Given the description of an element on the screen output the (x, y) to click on. 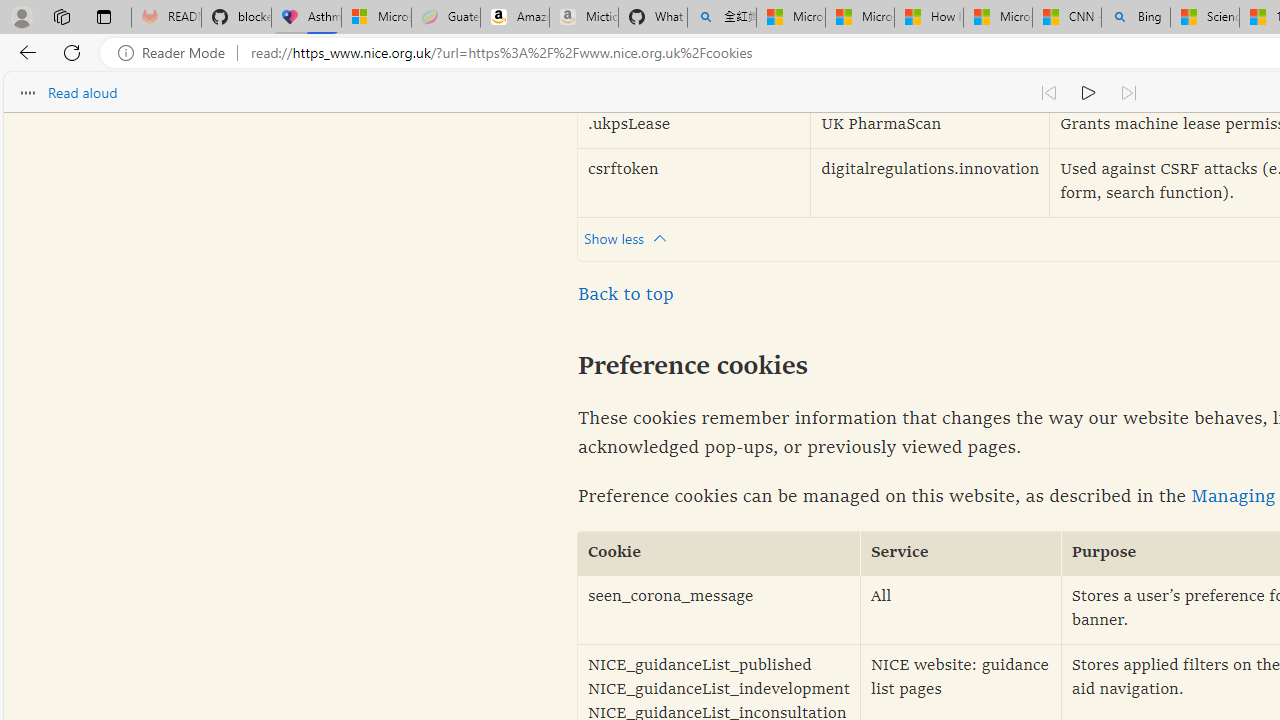
Read next paragraph (1128, 92)
Service (961, 554)
Bing (1135, 17)
How I Got Rid of Microsoft Edge's Unnecessary Features (928, 17)
Asthma Inhalers: Names and Types (305, 17)
All (961, 610)
UK PharmaScan (929, 125)
Microsoft-Report a Concern to Bing (375, 17)
Show less (630, 238)
